Given the description of an element on the screen output the (x, y) to click on. 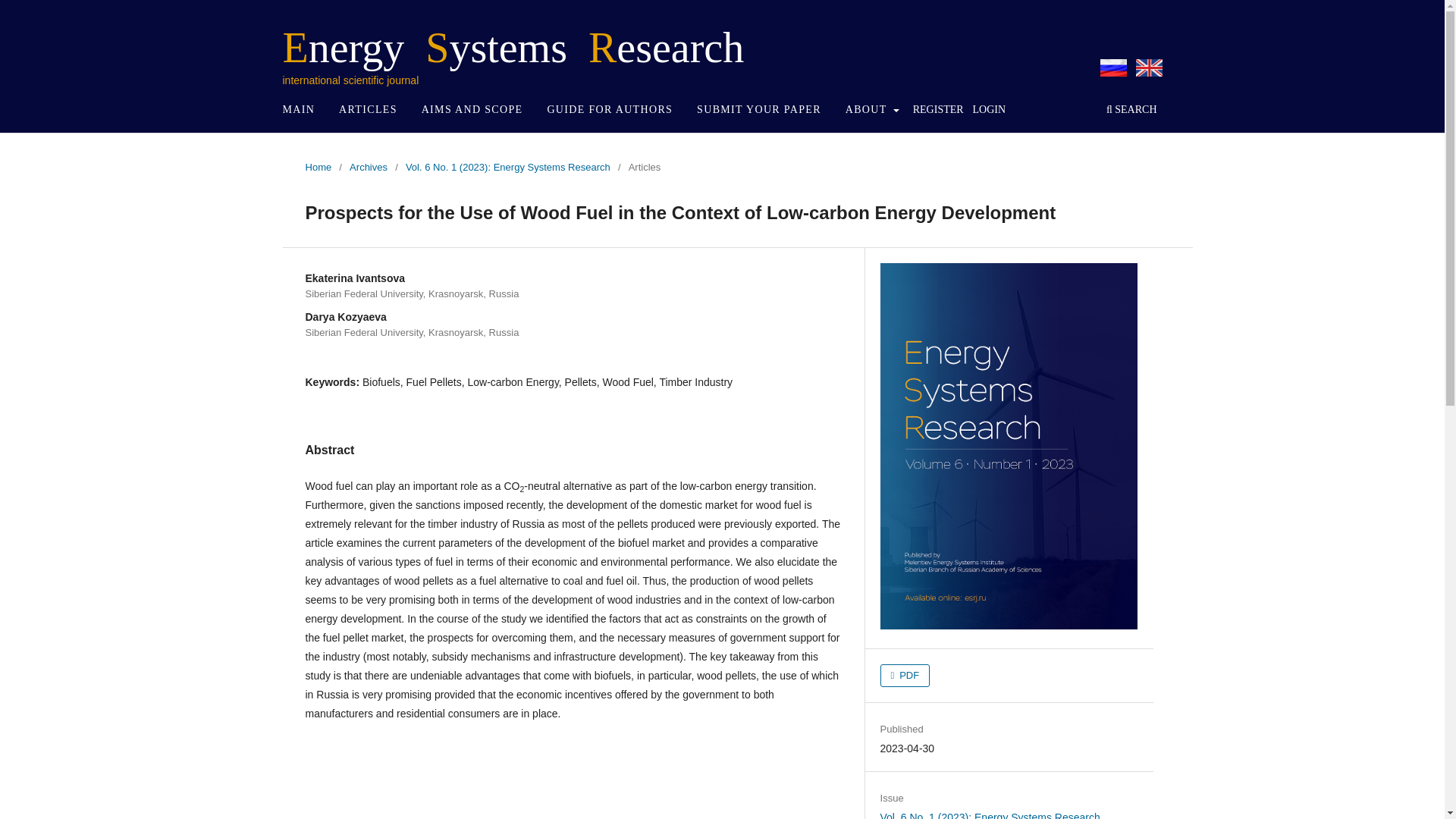
LOGIN (989, 111)
Home (317, 167)
REGISTER (938, 111)
MAIN (299, 111)
Archives (368, 167)
ARTICLES (368, 111)
GUIDE FOR AUTHORS (609, 111)
ABOUT (872, 111)
SUBMIT YOUR PAPER (759, 111)
